Given the description of an element on the screen output the (x, y) to click on. 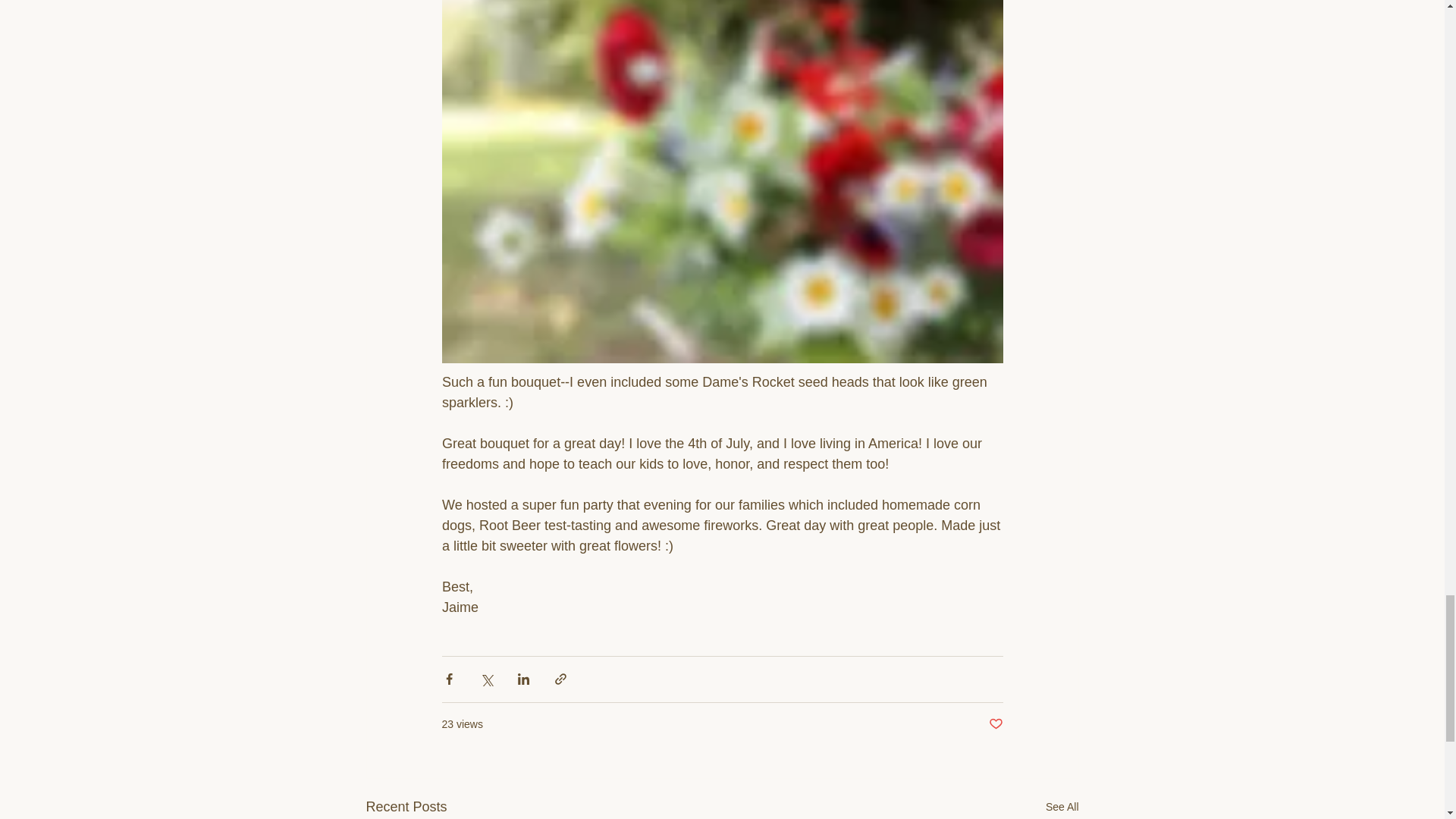
See All (1061, 807)
Post not marked as liked (995, 724)
